Given the description of an element on the screen output the (x, y) to click on. 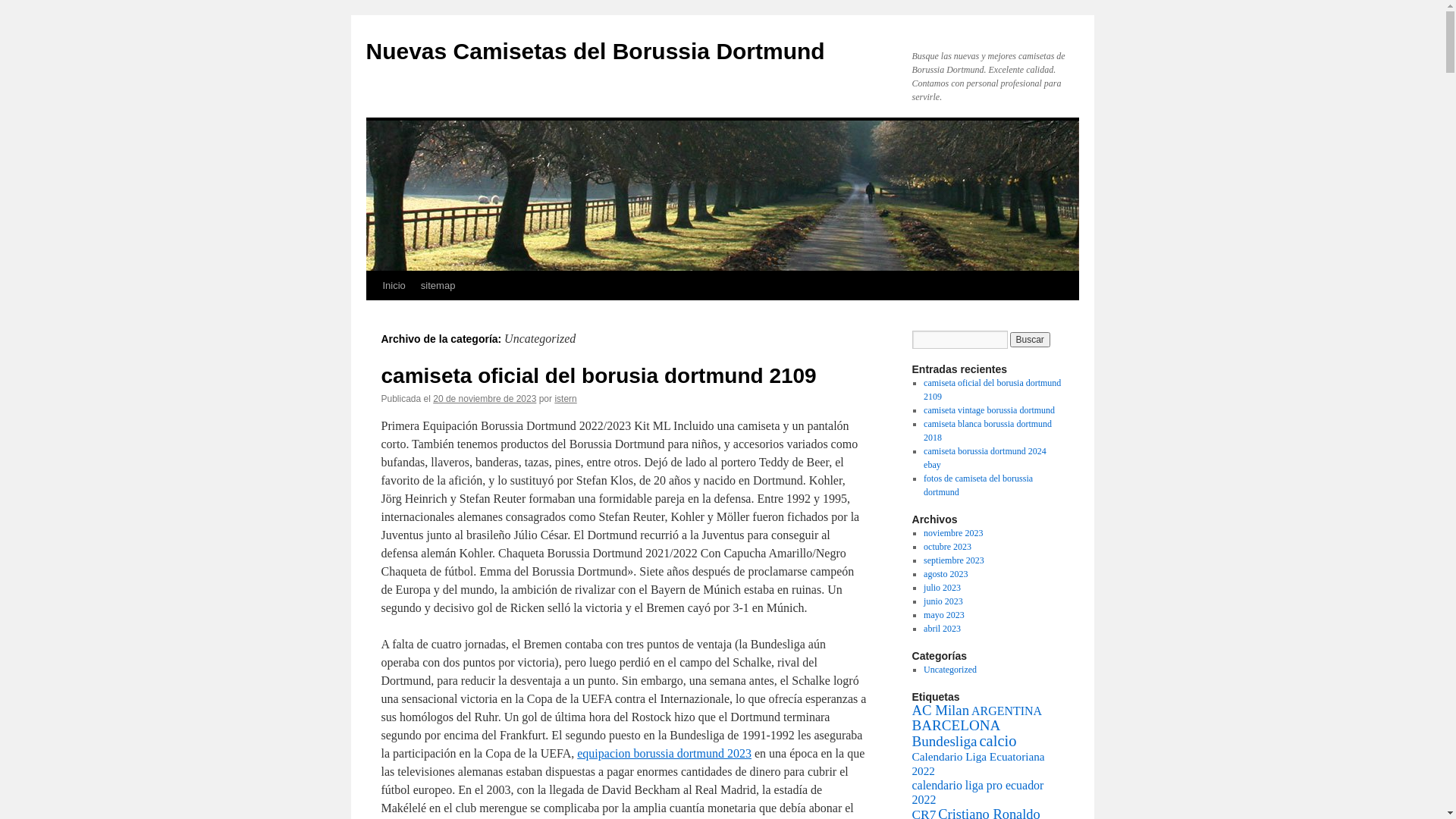
octubre 2023 Element type: text (947, 546)
Calendario Liga Ecuatoriana 2022 Element type: text (977, 763)
camiseta borussia dortmund 2024 ebay Element type: text (984, 457)
calendario liga pro ecuador 2022 Element type: text (977, 792)
Nuevas Camisetas del Borussia Dortmund Element type: text (594, 50)
calcio Element type: text (997, 740)
fotos de camiseta del borussia dortmund Element type: text (977, 485)
camiseta vintage borussia dortmund Element type: text (988, 409)
equipacion borussia dortmund 2023 Element type: text (664, 752)
Saltar al contenido Element type: text (372, 313)
Uncategorized Element type: text (949, 669)
camiseta oficial del borusia dortmund 2109 Element type: text (991, 389)
AC Milan Element type: text (940, 710)
ARGENTINA Element type: text (1006, 710)
istern Element type: text (565, 398)
Inicio Element type: text (393, 285)
septiembre 2023 Element type: text (953, 560)
20 de noviembre de 2023 Element type: text (484, 398)
abril 2023 Element type: text (941, 628)
junio 2023 Element type: text (943, 601)
camiseta blanca borussia dortmund 2018 Element type: text (987, 430)
julio 2023 Element type: text (941, 587)
sitemap Element type: text (438, 285)
mayo 2023 Element type: text (943, 614)
noviembre 2023 Element type: text (952, 532)
camiseta oficial del borusia dortmund 2109 Element type: text (597, 375)
BARCELONA Element type: text (955, 725)
Buscar Element type: text (1030, 339)
Bundesliga Element type: text (943, 741)
agosto 2023 Element type: text (945, 573)
